Given the description of an element on the screen output the (x, y) to click on. 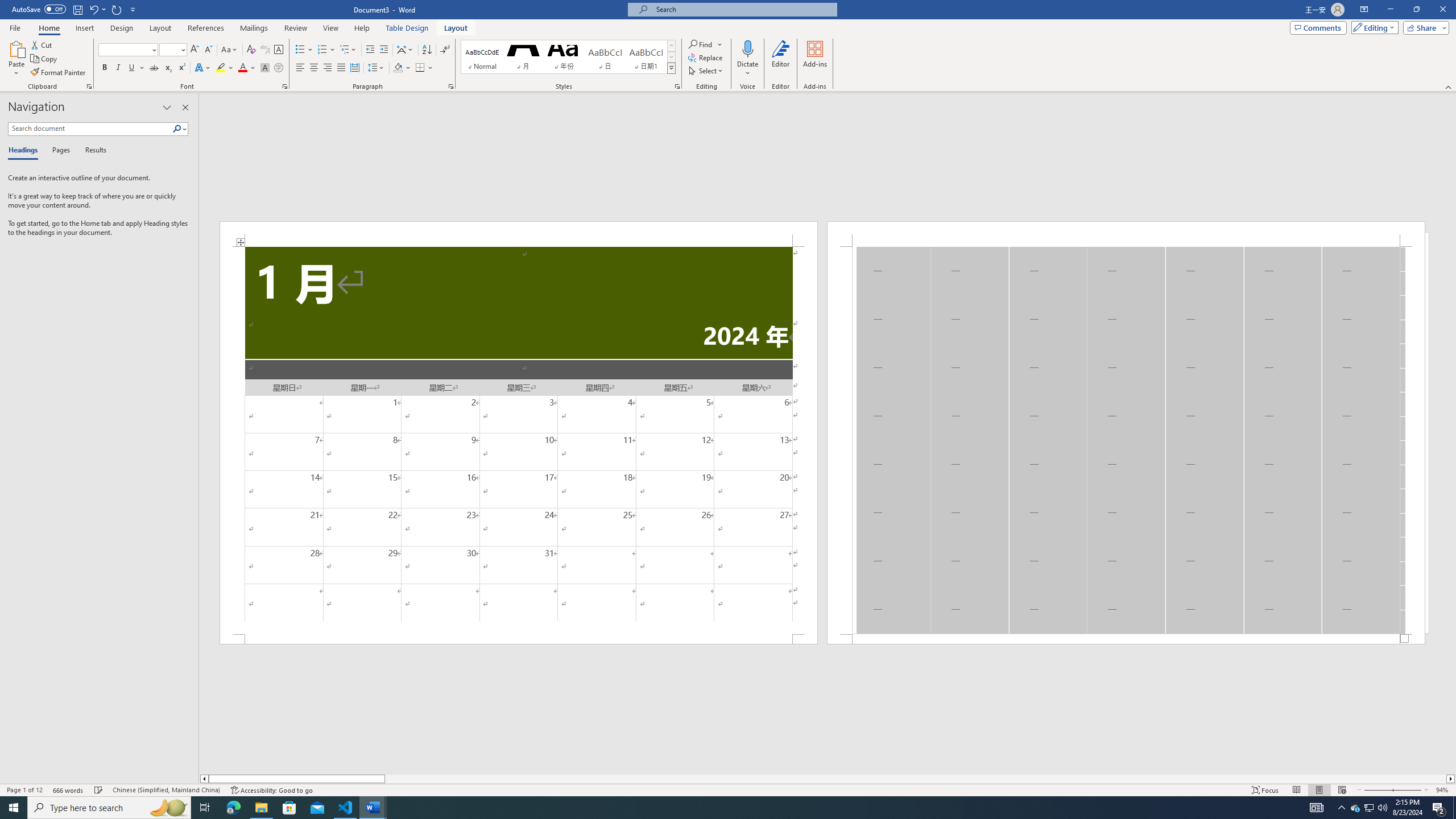
Spelling and Grammar Check Checking (98, 790)
Page 2 content (1126, 439)
